Given the description of an element on the screen output the (x, y) to click on. 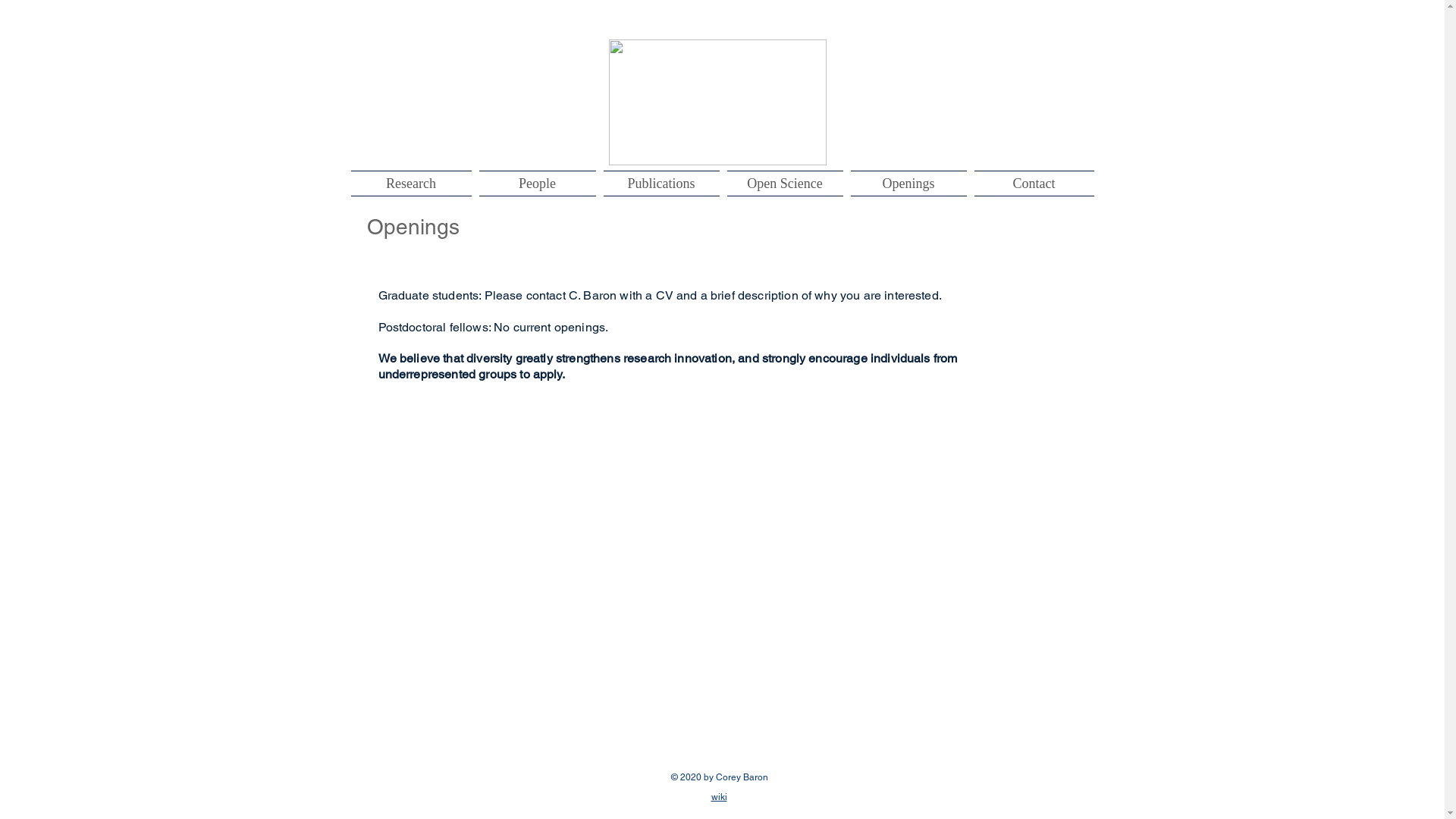
Research Element type: text (412, 183)
wiki Element type: text (719, 796)
People Element type: text (536, 183)
Baron Logo.jpg Element type: hover (716, 102)
Publications Element type: text (660, 183)
Contact Element type: text (1032, 183)
Openings Element type: text (907, 183)
Open Science Element type: text (785, 183)
